Given the description of an element on the screen output the (x, y) to click on. 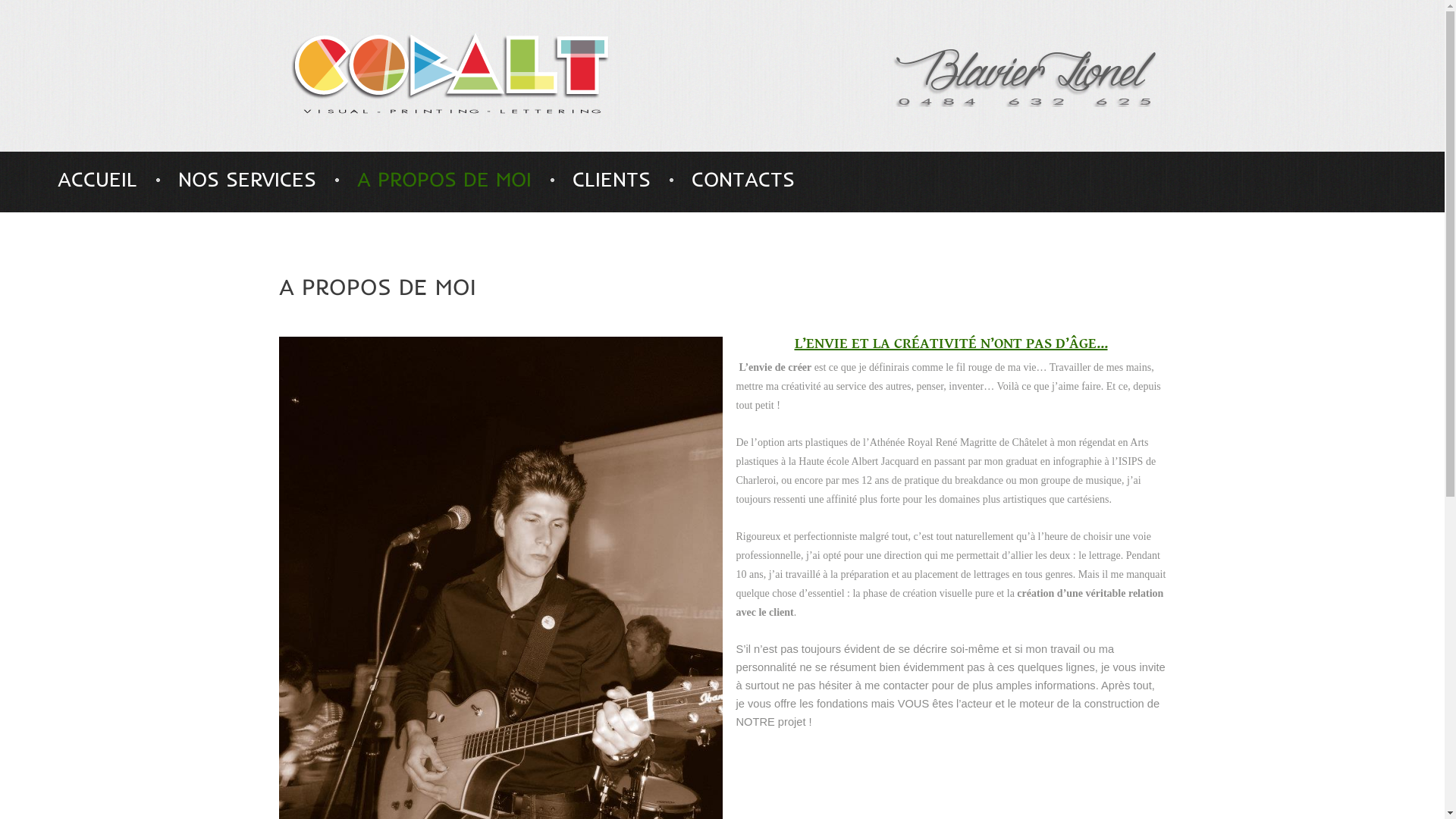
ACCUEIL Element type: text (97, 179)
CLIENTS Element type: text (611, 179)
CONTACTS Element type: text (742, 179)
A PROPOS DE MOI Element type: text (444, 179)
NOS SERVICES Element type: text (247, 179)
